Given the description of an element on the screen output the (x, y) to click on. 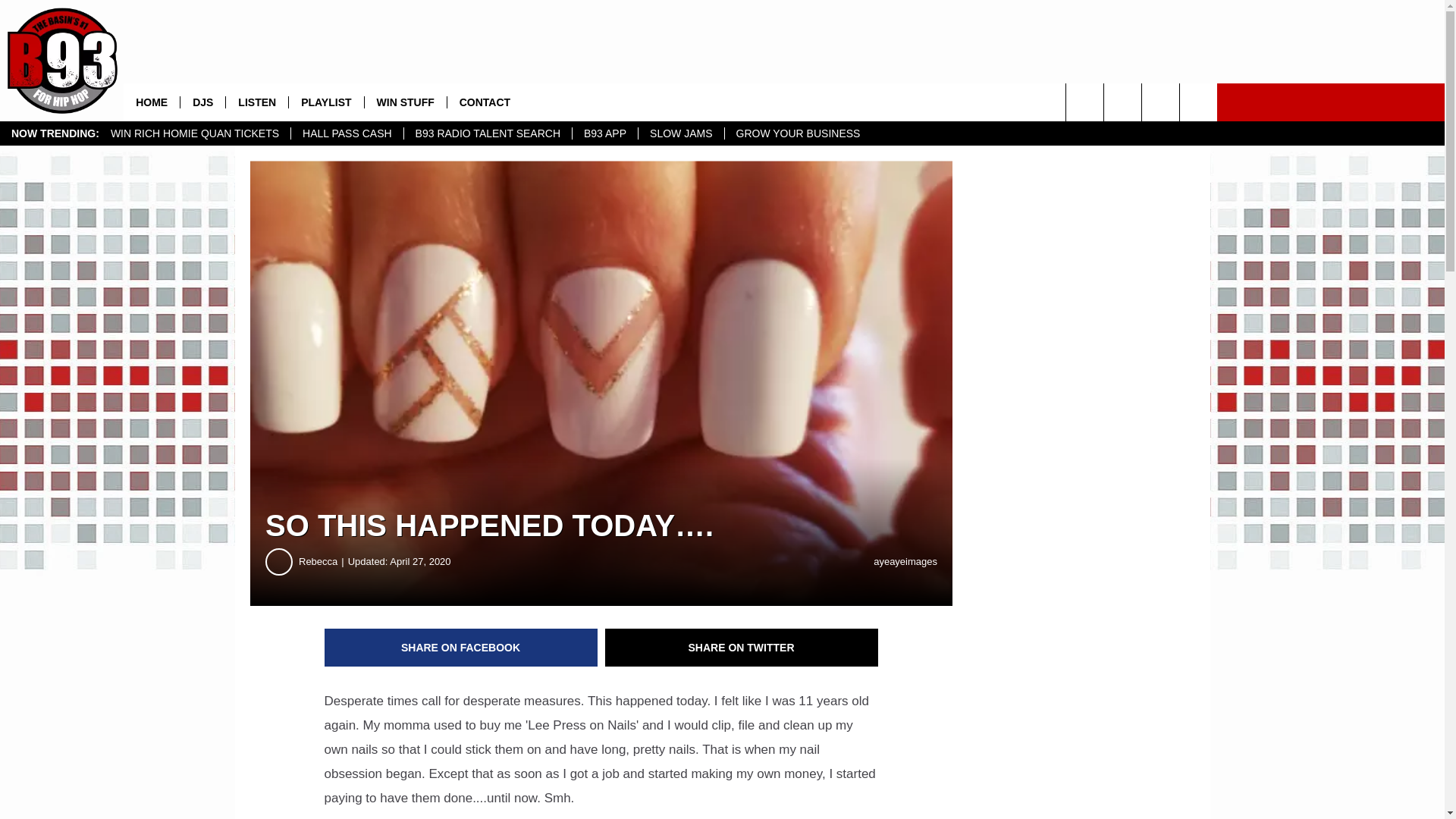
Share on Twitter (741, 647)
CONTACT (484, 102)
Share on Facebook (460, 647)
B93 APP (604, 133)
HALL PASS CASH (346, 133)
DJS (202, 102)
PLAYLIST (325, 102)
GROW YOUR BUSINESS (797, 133)
WIN RICH HOMIE QUAN TICKETS (194, 133)
HOME (151, 102)
